Given the description of an element on the screen output the (x, y) to click on. 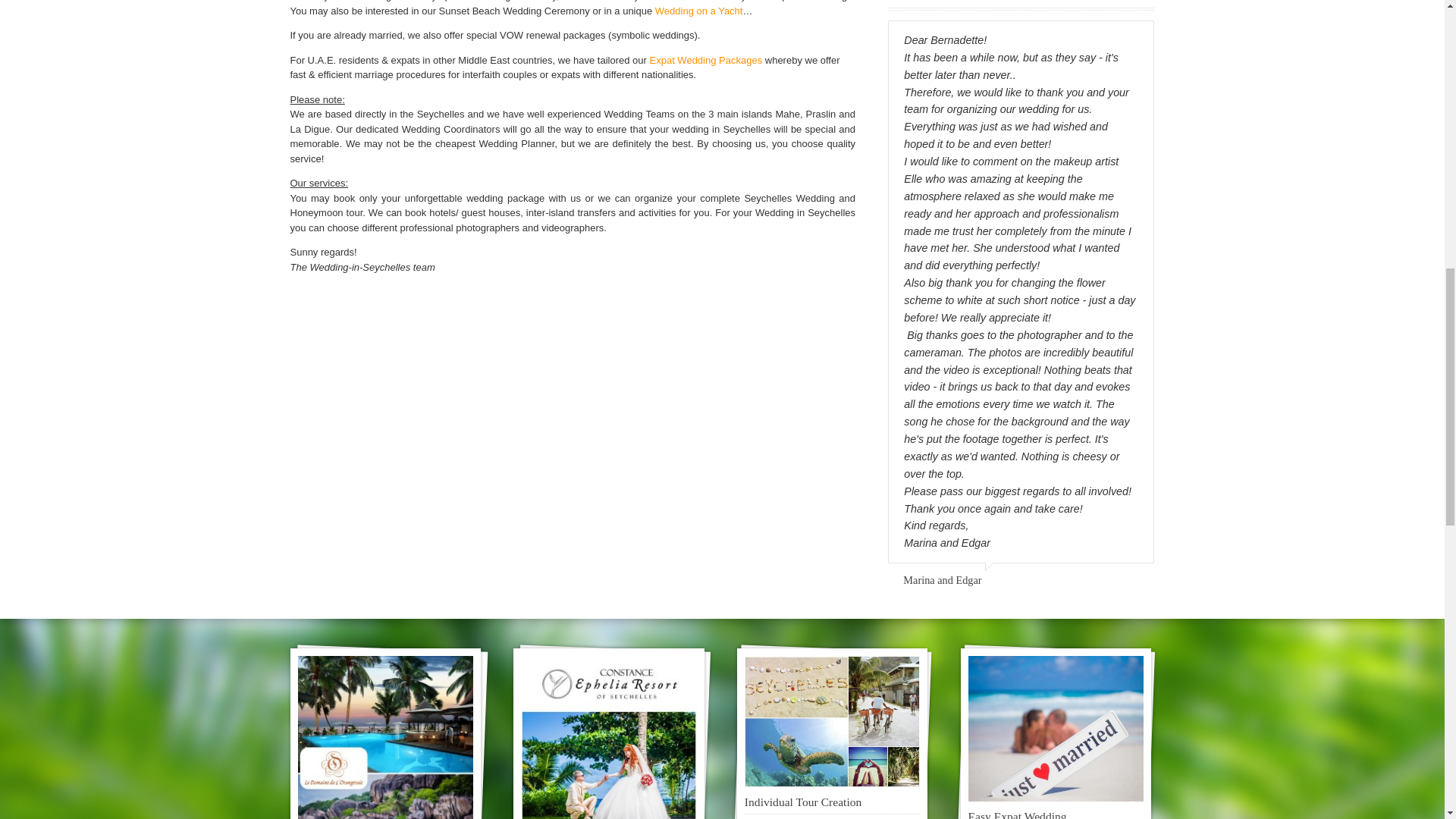
Contact us (586, 0)
Individual Tour Creation (802, 801)
Expat Wedding Packages (705, 60)
Wedding on a Yacht (698, 10)
Contact Us (586, 0)
Easy Expat Wedding (1017, 814)
